Given the description of an element on the screen output the (x, y) to click on. 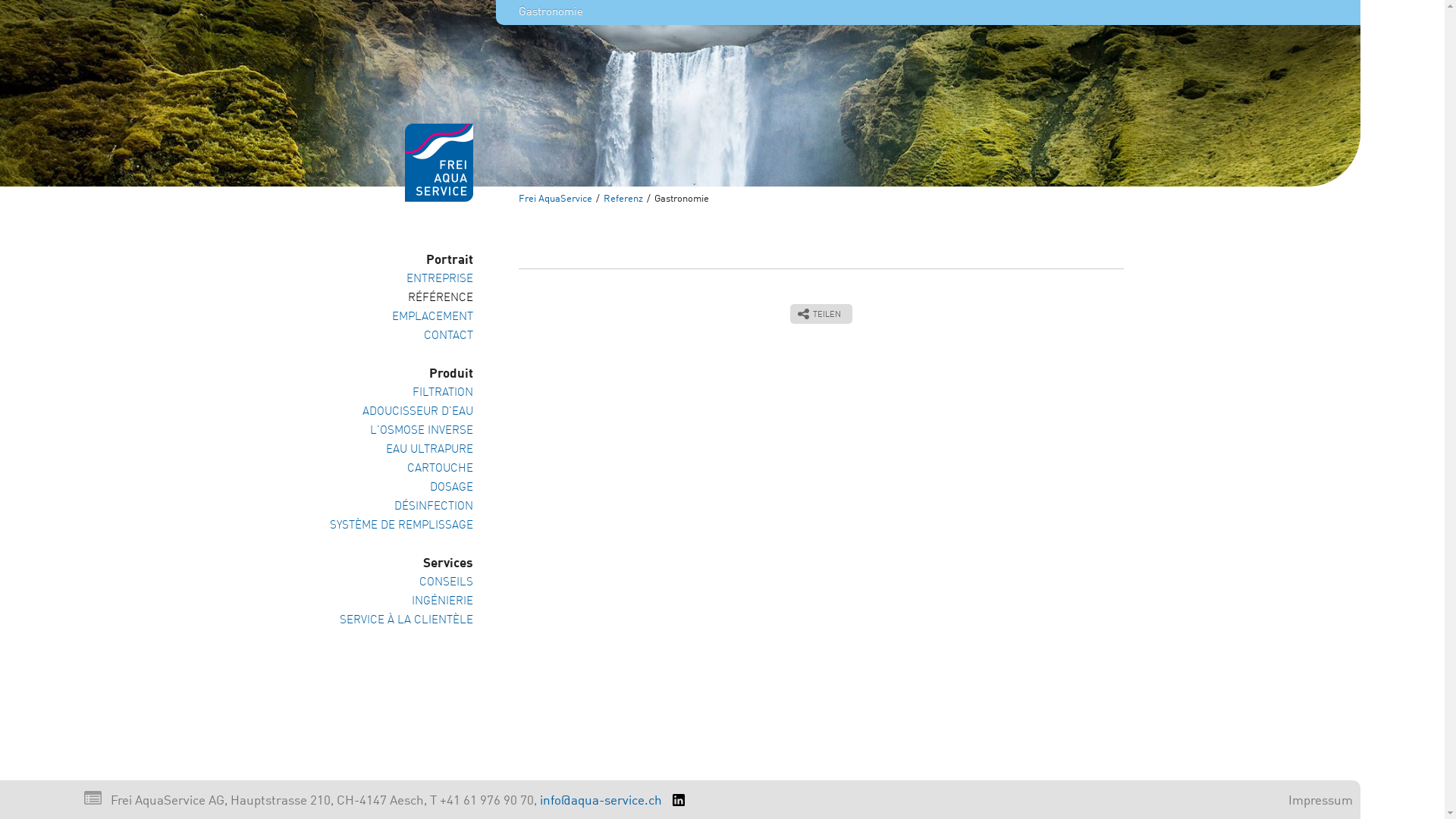
Referenz Element type: text (623, 199)
Frei AquaService Element type: text (555, 199)
info@aqua-service.ch Element type: text (600, 800)
DOSAGE Element type: text (397, 487)
L'OSMOSE INVERSE Element type: text (397, 430)
FILTRATION Element type: text (397, 392)
CONTACT Element type: text (397, 335)
CARTOUCHE Element type: text (397, 468)
EAU ULTRAPURE Element type: text (397, 449)
CONSEILS Element type: text (397, 582)
ADOUCISSEUR D'EAU Element type: text (397, 411)
EMPLACEMENT Element type: text (397, 316)
ENTREPRISE Element type: text (397, 278)
Impressum Element type: text (1320, 800)
